Given the description of an element on the screen output the (x, y) to click on. 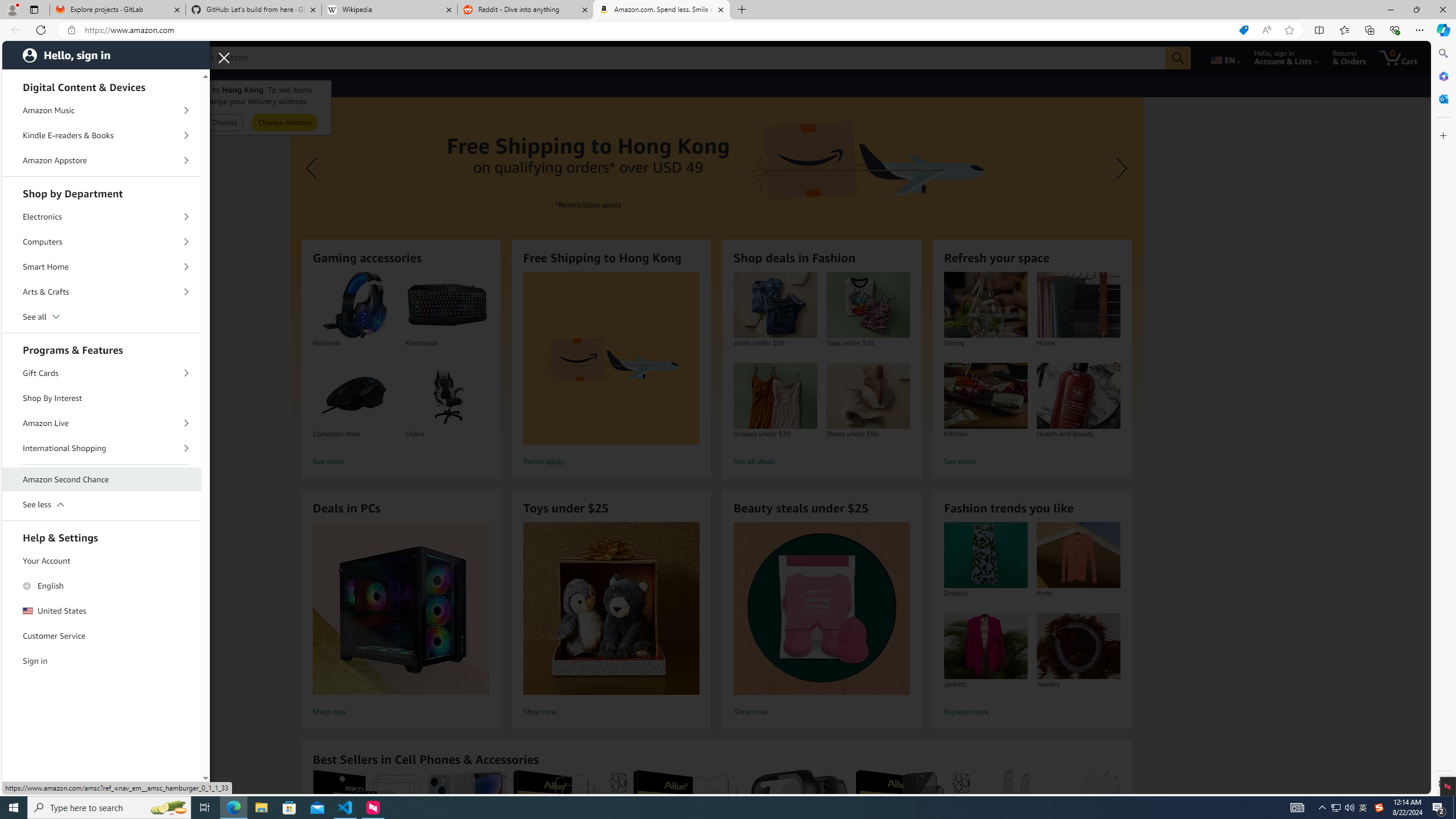
Amazon Appstore (101, 159)
Shop By Interest (101, 398)
Amazon Music (101, 110)
English (101, 585)
Computers (101, 242)
Digital Content & Devices (101, 85)
Hello, sign in (105, 54)
Amazon Appstore (101, 160)
Amazon Live (101, 423)
